Given the description of an element on the screen output the (x, y) to click on. 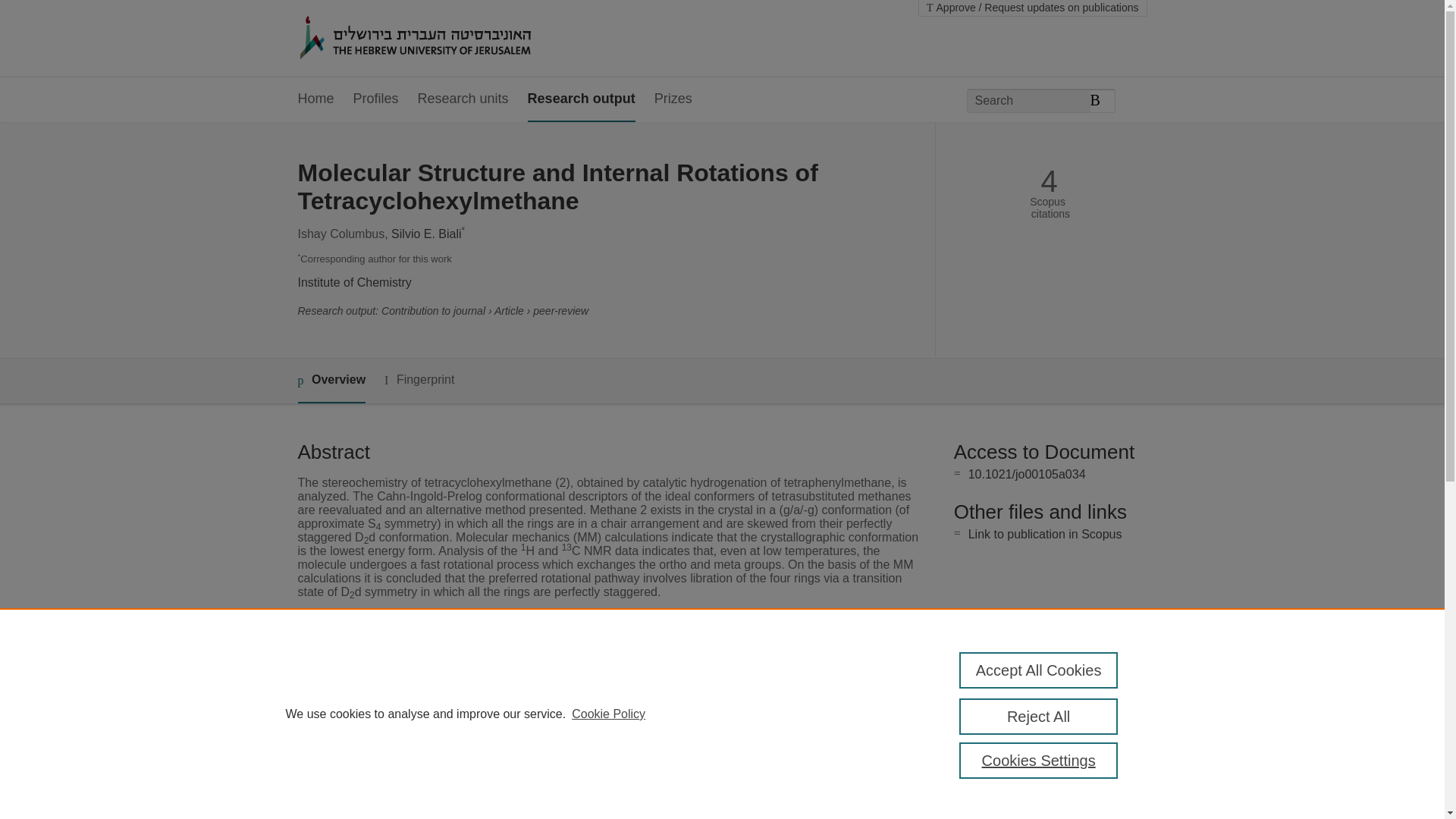
Overview (331, 380)
Link to publication in Scopus (1045, 533)
Institute of Chemistry (353, 282)
Cookie Policy (608, 713)
Reject All (1038, 716)
Fingerprint (419, 380)
Silvio E. Biali (426, 233)
The Hebrew University of Jerusalem Home (447, 38)
Research output (580, 99)
